Given the description of an element on the screen output the (x, y) to click on. 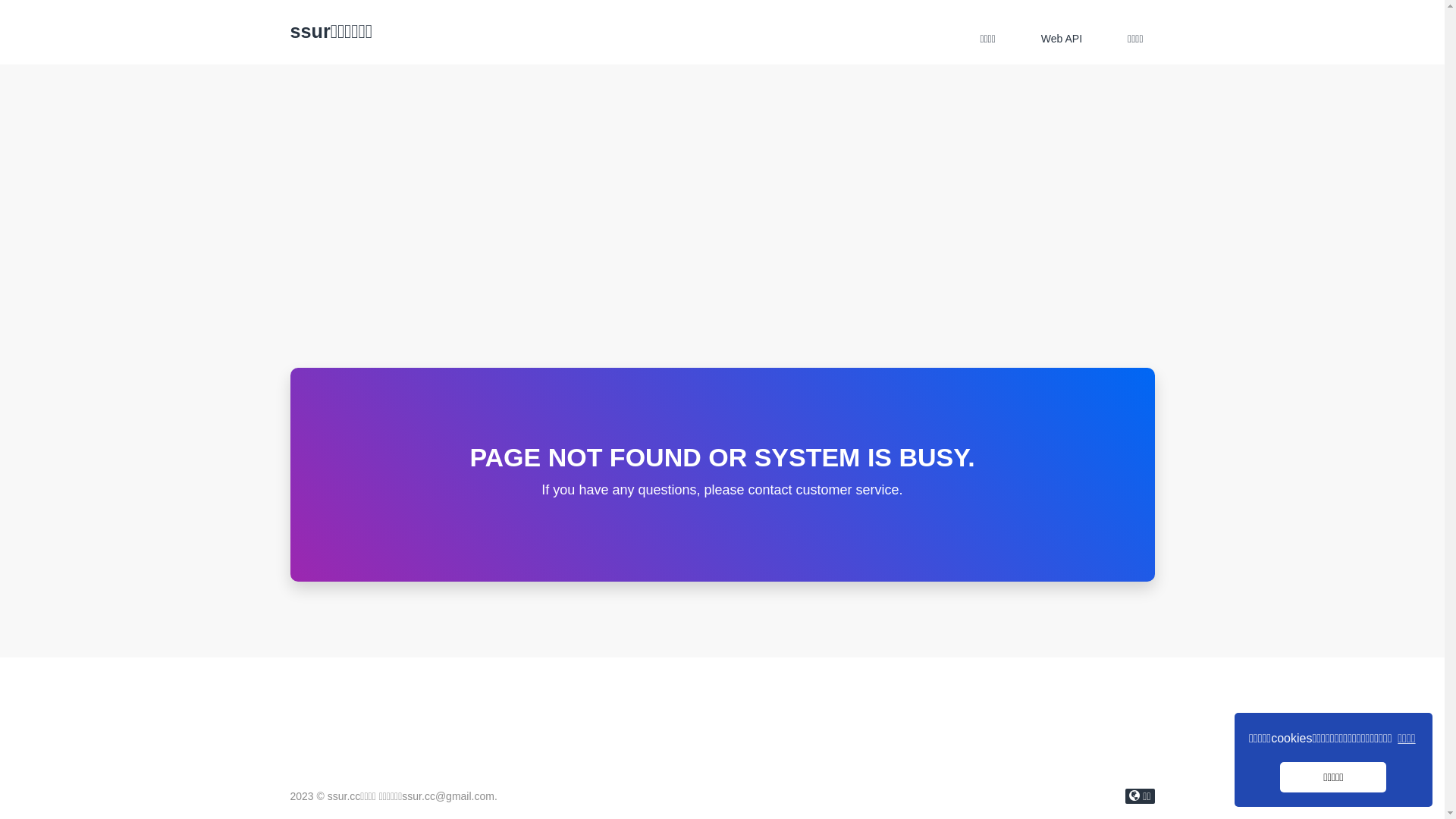
Web API Element type: text (1061, 38)
Advertisement Element type: hover (721, 253)
